Given the description of an element on the screen output the (x, y) to click on. 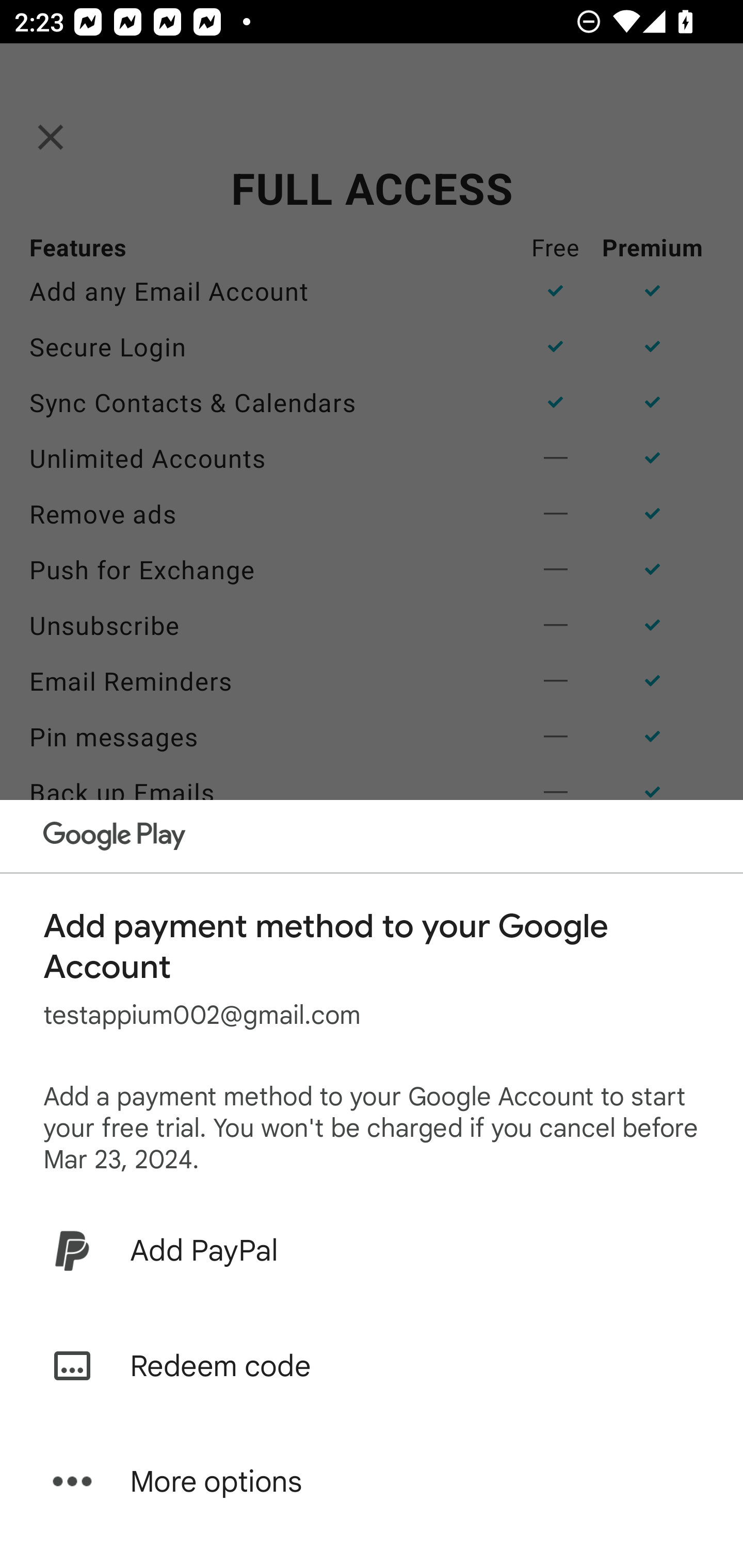
Add PayPal (371, 1250)
Redeem code (371, 1365)
More options (371, 1481)
